Given the description of an element on the screen output the (x, y) to click on. 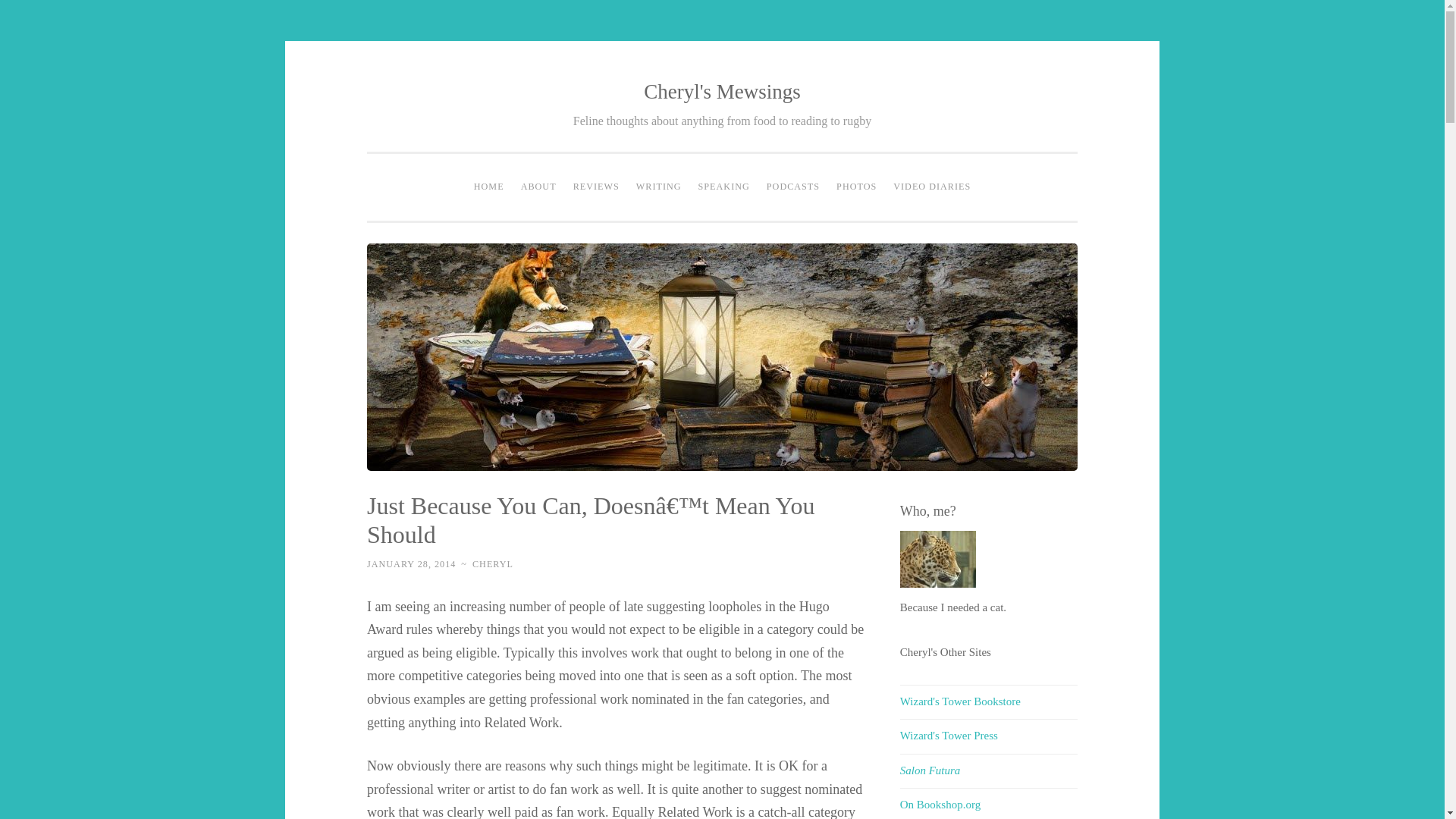
JANUARY 28, 2014 (410, 563)
VIDEO DIARIES (931, 186)
CHERYL (492, 563)
PODCASTS (793, 186)
WRITING (658, 186)
ABOUT (538, 186)
HOME (489, 186)
REVIEWS (596, 186)
Cheryl's Mewsings (721, 91)
PHOTOS (856, 186)
SPEAKING (724, 186)
